Given the description of an element on the screen output the (x, y) to click on. 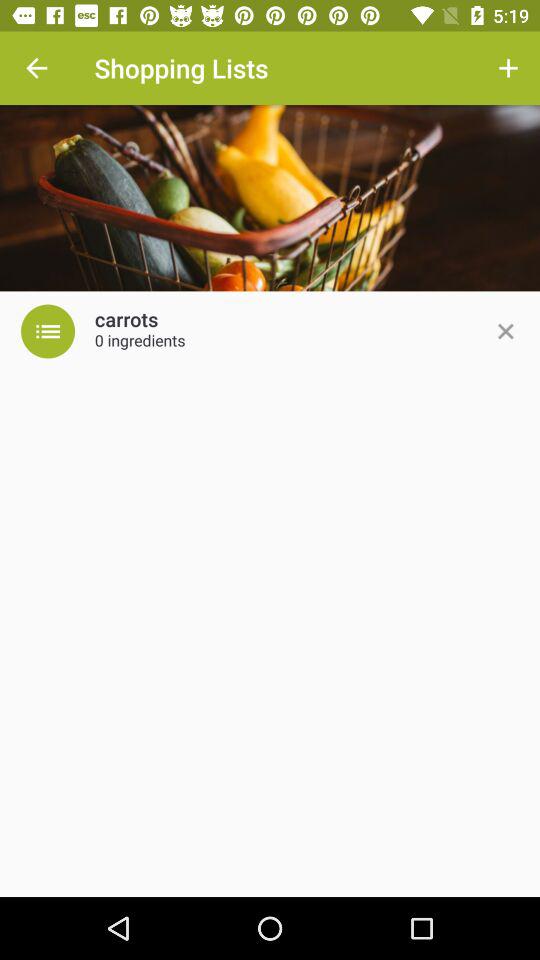
tap item to the left of the carrots item (48, 331)
